Given the description of an element on the screen output the (x, y) to click on. 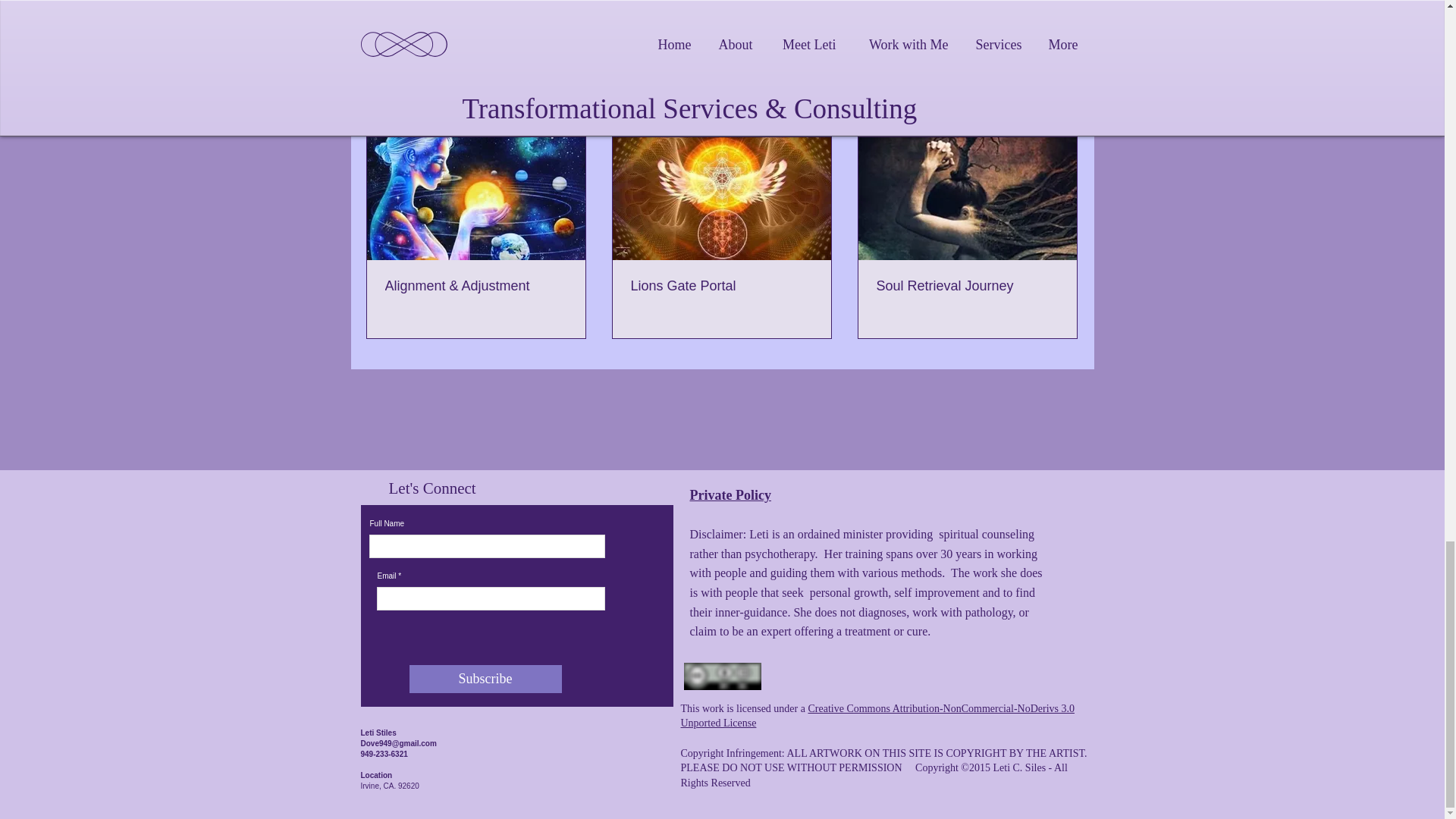
See All (1061, 110)
Lions Gate Portal (721, 286)
Soul Retrieval Journey (967, 286)
Private Policy (730, 494)
Subscribe (485, 678)
